Given the description of an element on the screen output the (x, y) to click on. 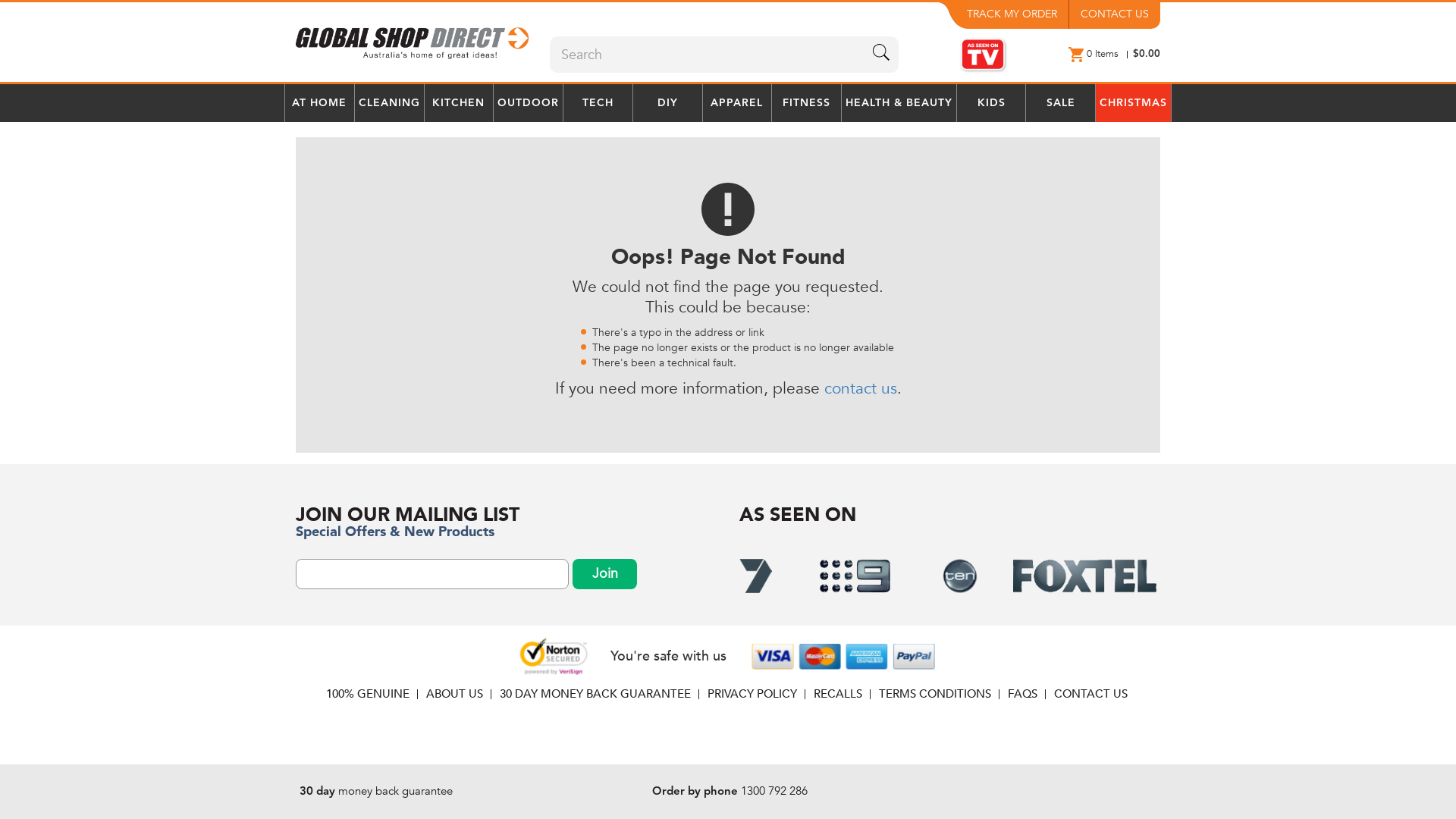
RECALLS Element type: text (837, 693)
FITNESS Element type: text (805, 103)
CONTACT US Element type: text (1090, 693)
Join Element type: text (604, 573)
CHRISTMAS Element type: text (1132, 103)
30 DAY MONEY BACK GUARANTEE Element type: text (594, 693)
FAQS Element type: text (1022, 693)
100% GENUINE Element type: text (367, 693)
HEALTH & BEAUTY Element type: text (898, 103)
0 Items $0.00 Element type: text (1114, 53)
KITCHEN Element type: text (458, 103)
TRACK MY ORDER Element type: text (1017, 14)
SALE Element type: text (1060, 103)
APPAREL Element type: text (736, 103)
PRIVACY POLICY Element type: text (752, 693)
TECH Element type: text (597, 103)
contact us Element type: text (859, 388)
AT HOME Element type: text (319, 103)
TERMS CONDITIONS Element type: text (934, 693)
CONTACT US Element type: text (1114, 14)
CLEANING Element type: text (388, 103)
KIDS Element type: text (991, 103)
OUTDOOR Element type: text (527, 103)
DIY Element type: text (667, 103)
ABOUT US Element type: text (454, 693)
